Given the description of an element on the screen output the (x, y) to click on. 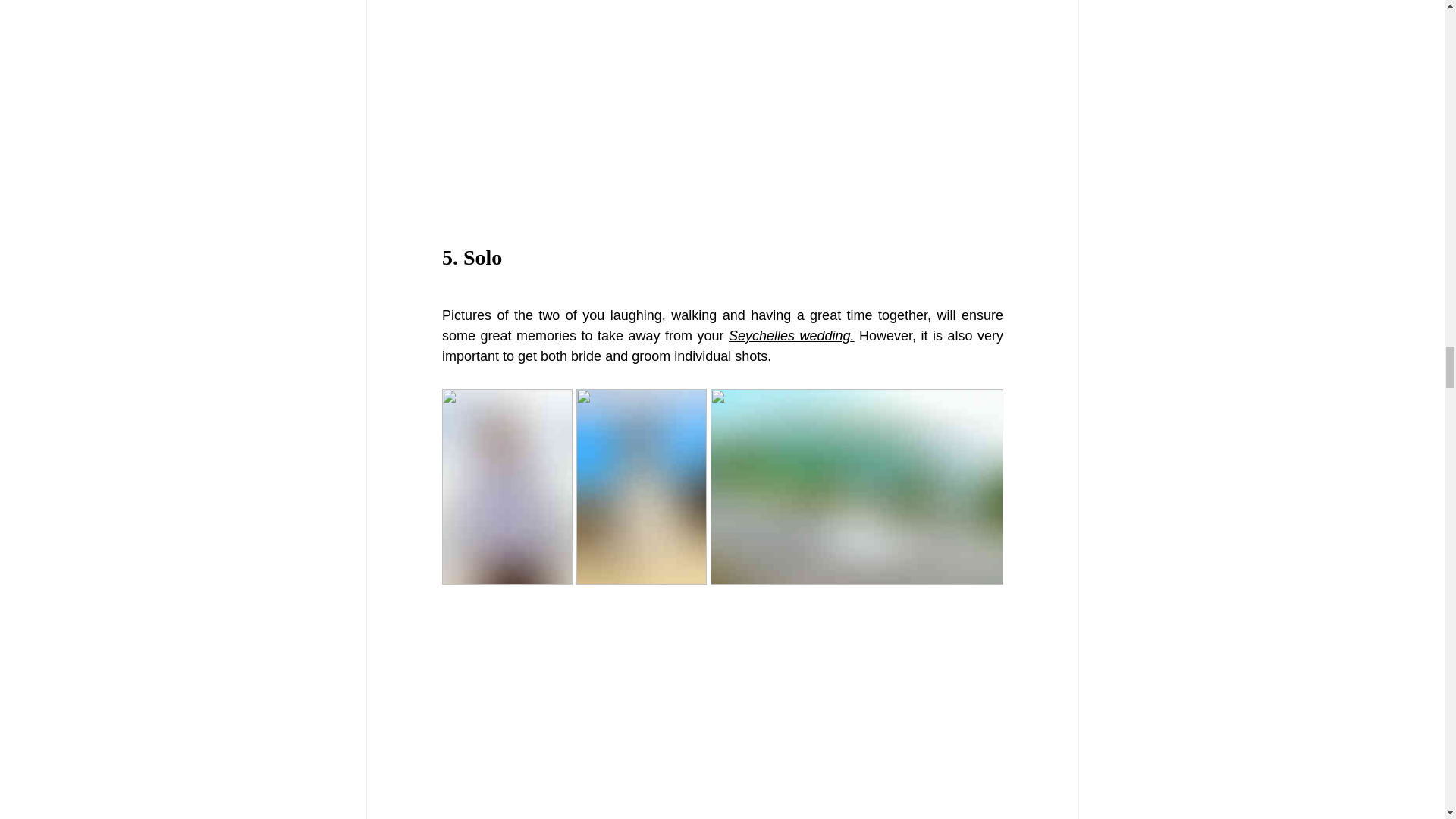
Seychelles wedding (789, 335)
